Given the description of an element on the screen output the (x, y) to click on. 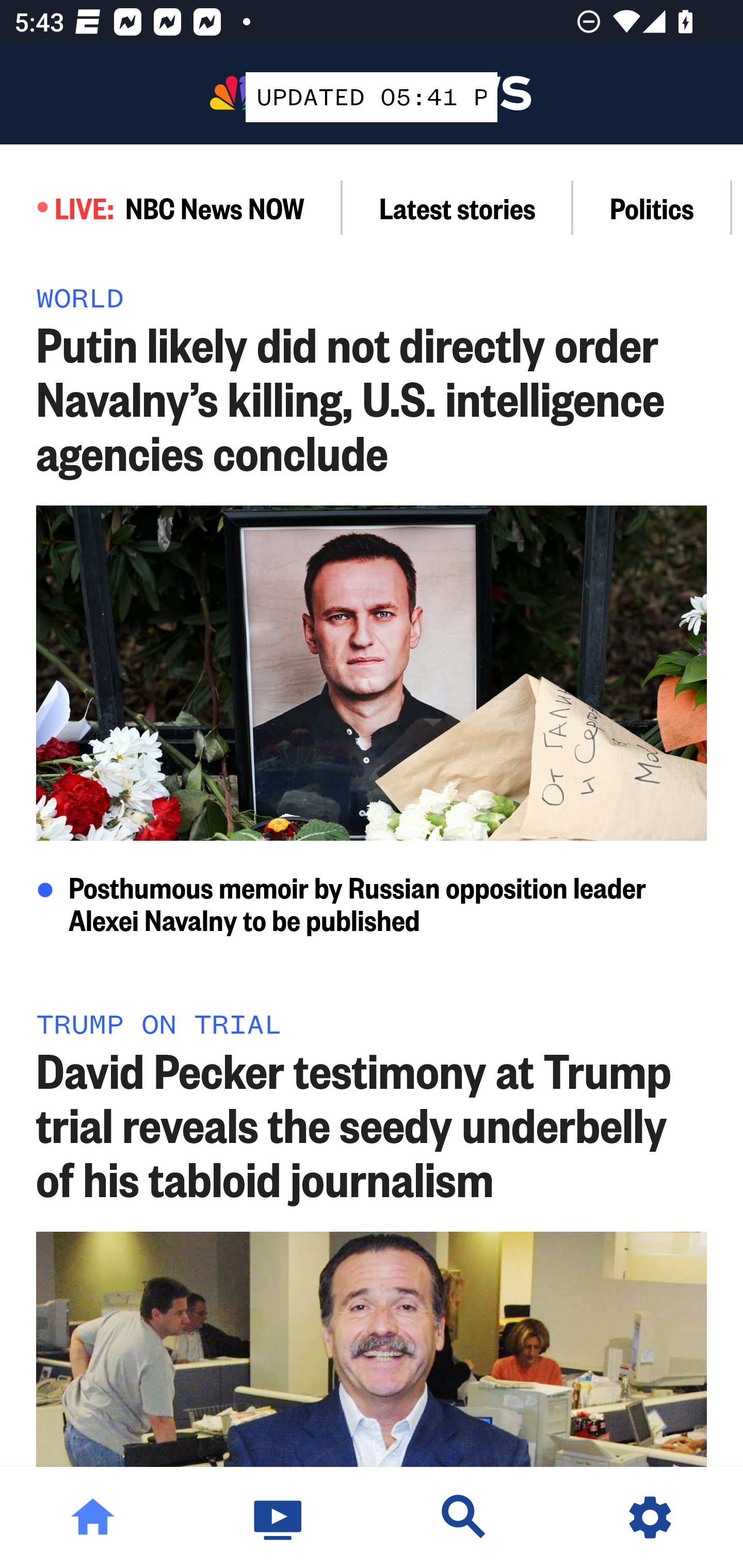
LIVE:  NBC News NOW (171, 207)
Latest stories Section,Latest stories (457, 207)
Politics Section,Politics (652, 207)
Watch (278, 1517)
Discover (464, 1517)
Settings (650, 1517)
